Given the description of an element on the screen output the (x, y) to click on. 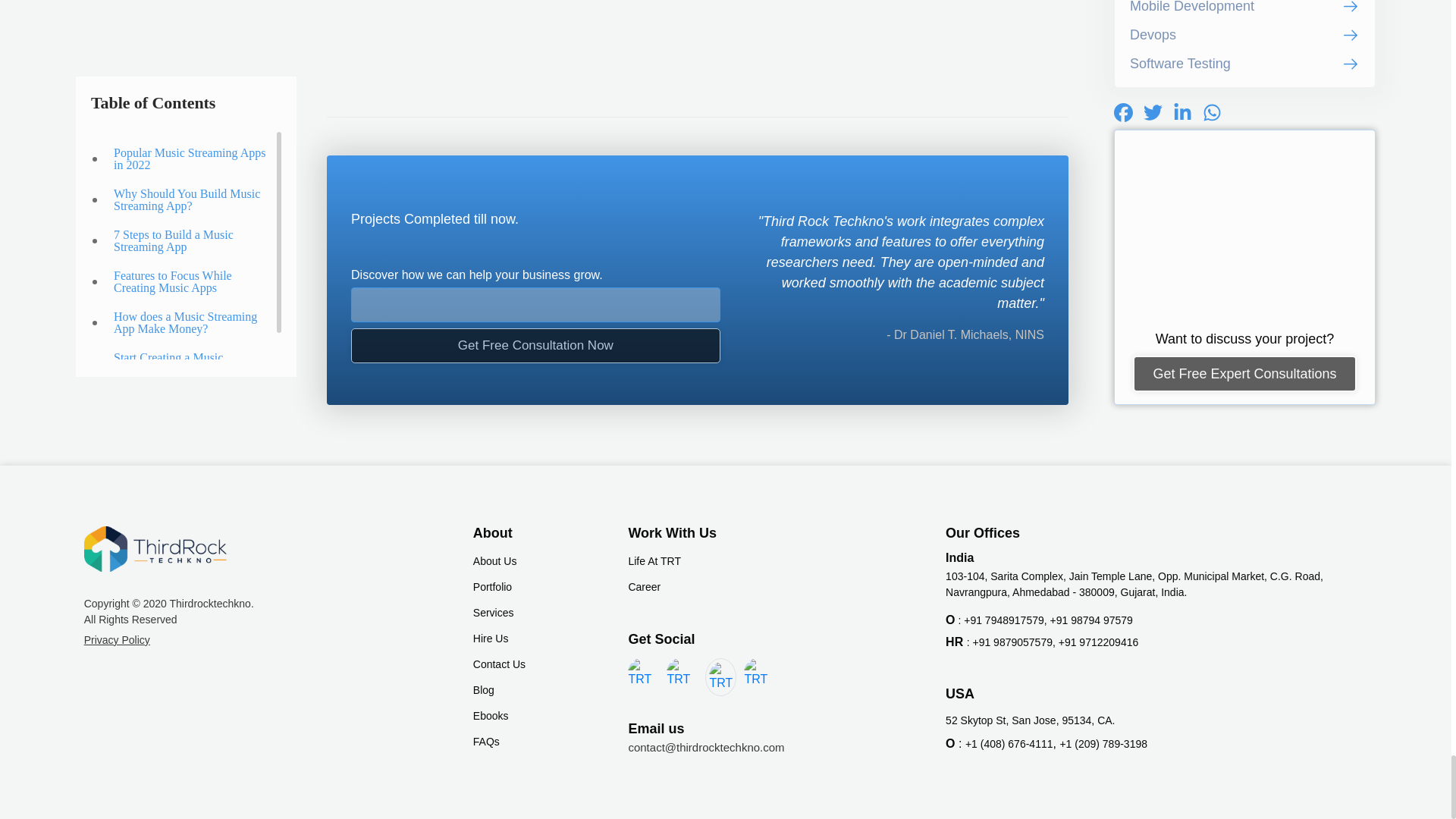
Facebook (641, 673)
Linkedin (680, 673)
Instagram (757, 673)
